Given the description of an element on the screen output the (x, y) to click on. 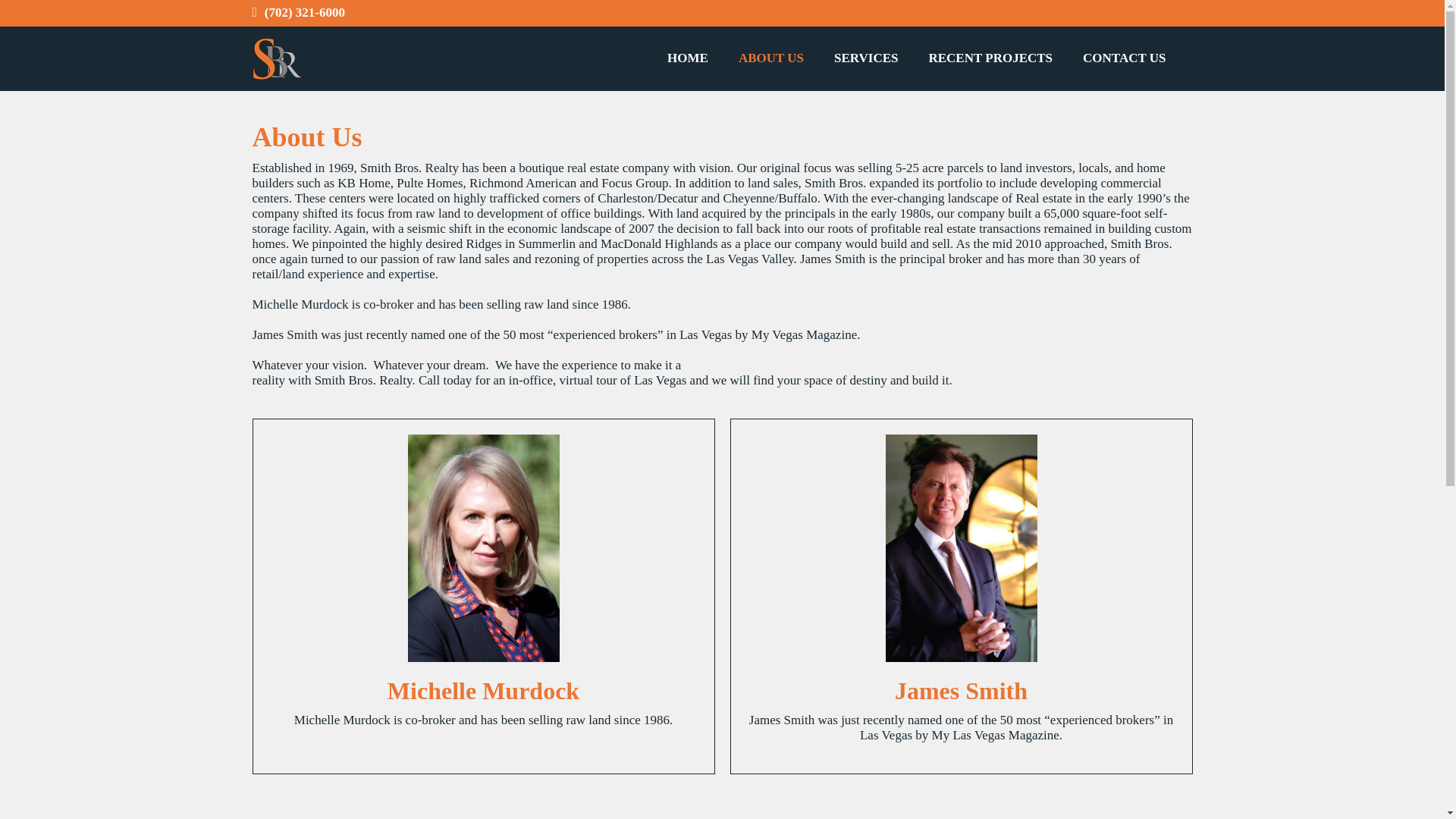
ABOUT US (770, 58)
CONTACT US (1123, 58)
HOME (687, 58)
SERVICES (865, 58)
RECENT PROJECTS (989, 58)
